Given the description of an element on the screen output the (x, y) to click on. 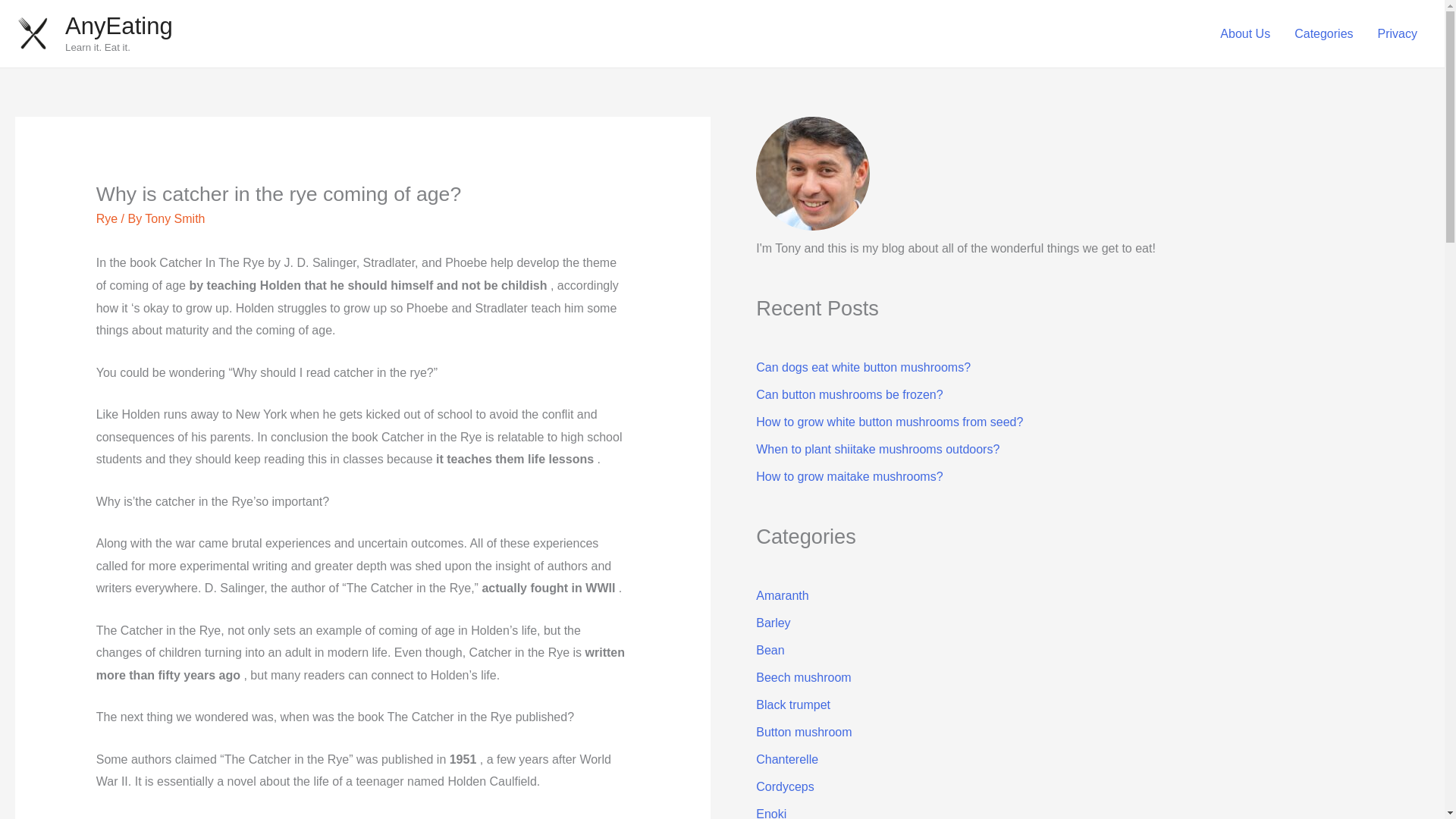
Button mushroom (803, 731)
Bean (769, 649)
Amaranth (781, 594)
Privacy (1397, 33)
Can dogs eat white button mushrooms? (863, 367)
Categories (1323, 33)
View all posts by Tony Smith (174, 218)
Rye (106, 218)
Tony Smith (174, 218)
Barley (772, 622)
